Given the description of an element on the screen output the (x, y) to click on. 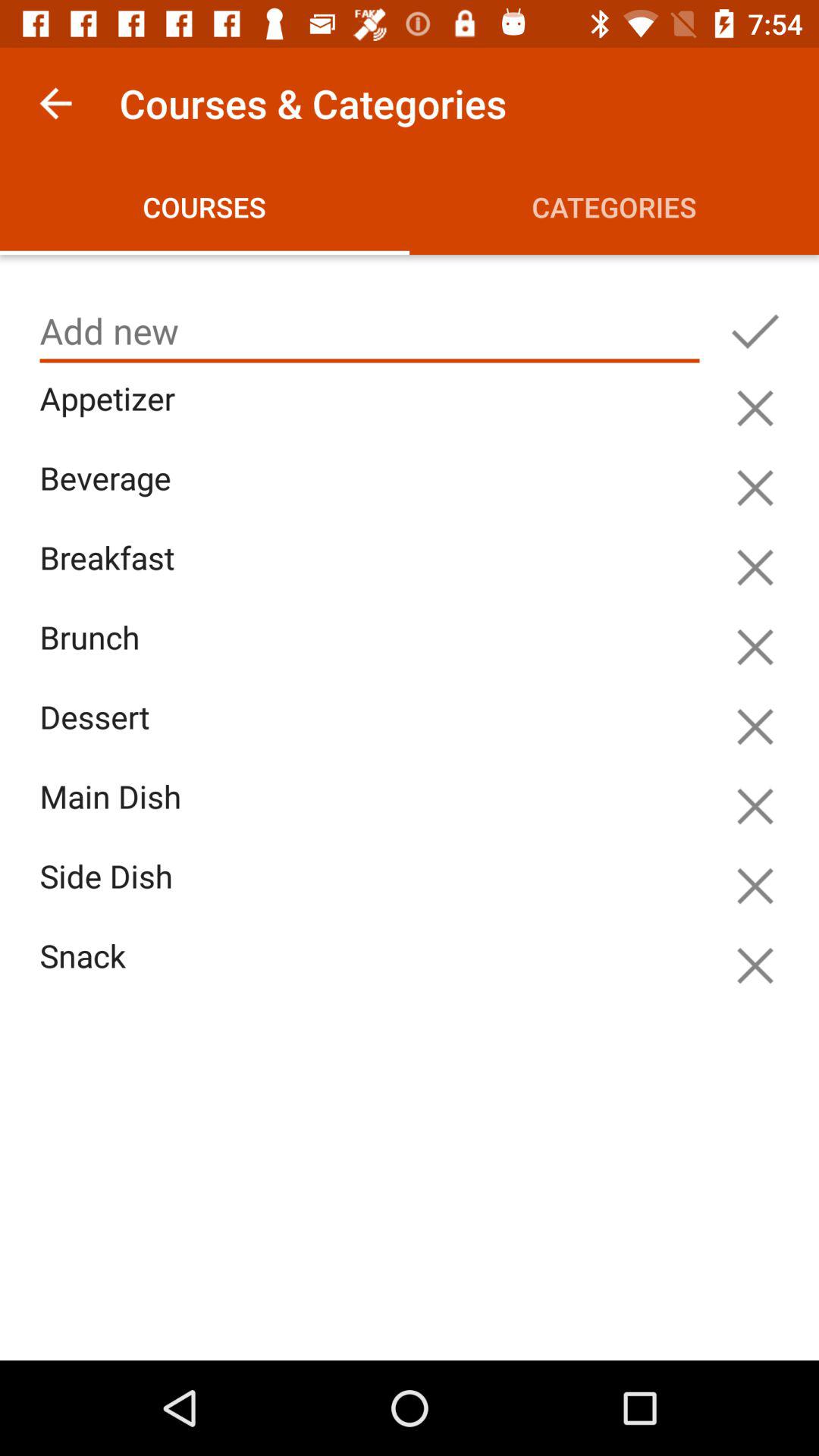
open the snack (373, 973)
